Given the description of an element on the screen output the (x, y) to click on. 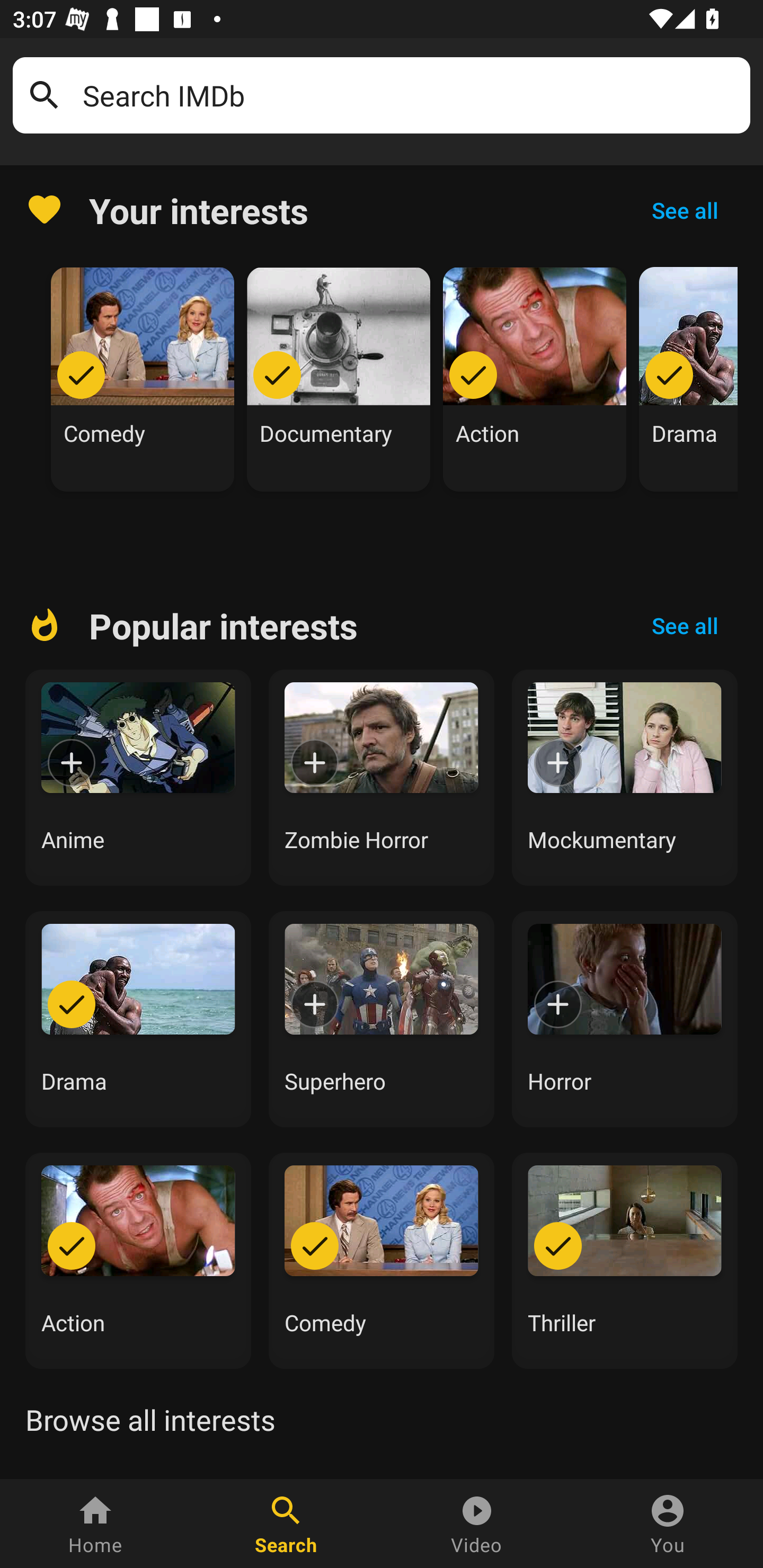
Search IMDb (410, 95)
See all (684, 209)
Comedy (142, 379)
Documentary (338, 379)
Action (534, 379)
Drama (688, 379)
See all (684, 625)
Anime (138, 777)
Zombie Horror (381, 777)
Mockumentary (624, 777)
Drama (138, 1018)
Superhero (381, 1018)
Horror (624, 1018)
Action (138, 1260)
Comedy (381, 1260)
Thriller (624, 1260)
Browse all interests (150, 1419)
Home (95, 1523)
Video (476, 1523)
You (667, 1523)
